Given the description of an element on the screen output the (x, y) to click on. 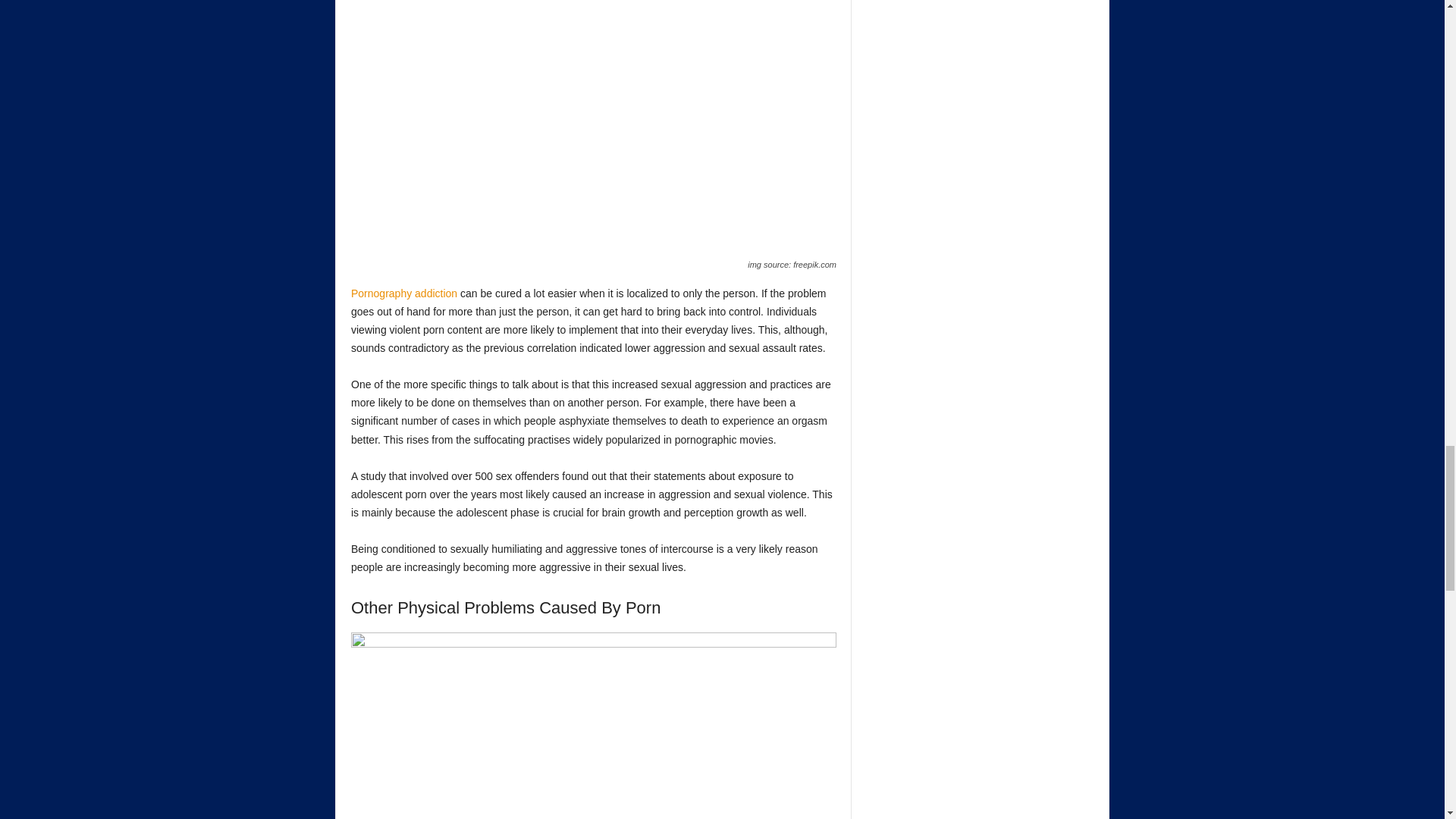
Pornography addiction (403, 293)
